Given the description of an element on the screen output the (x, y) to click on. 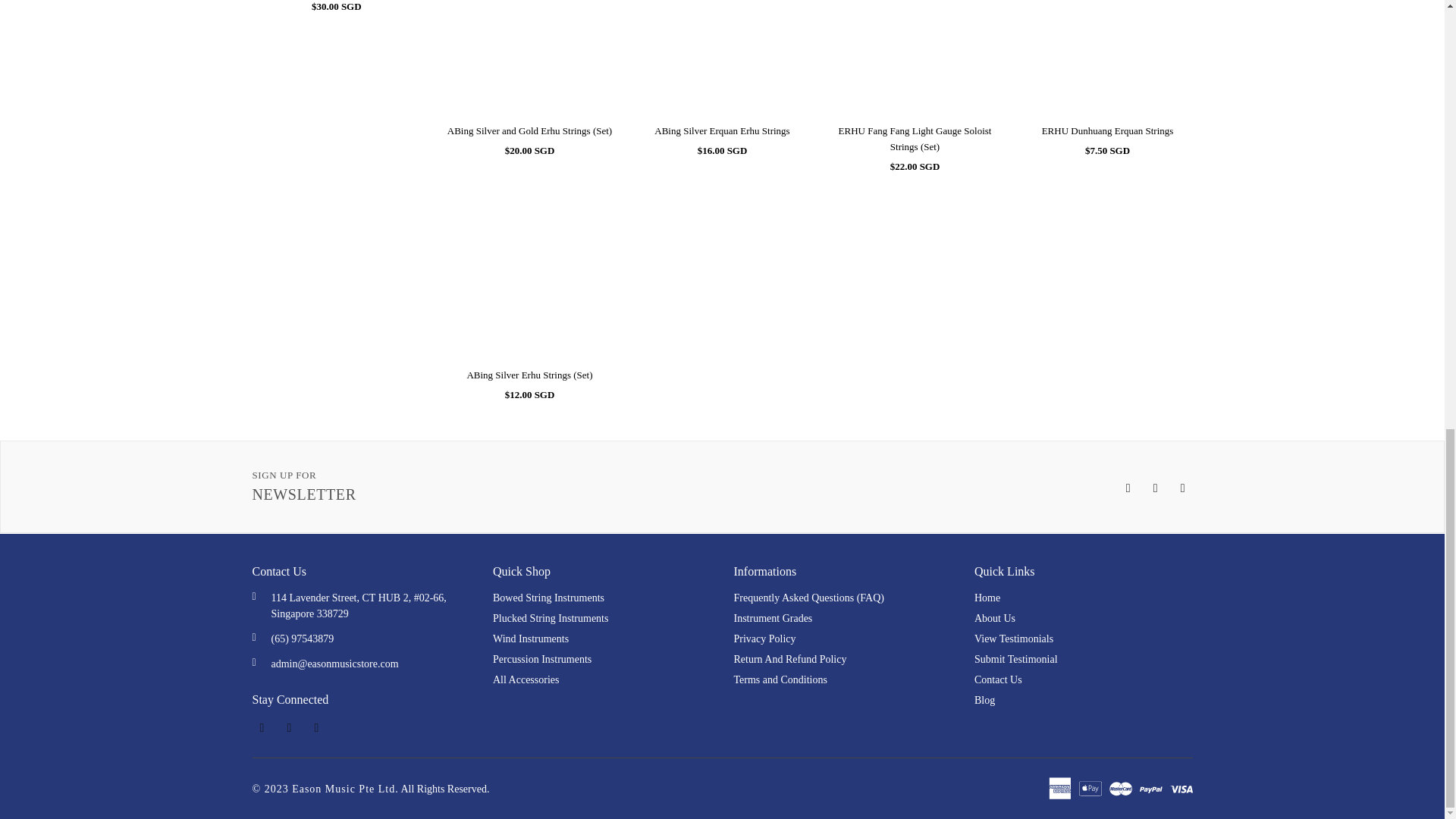
Eason Music Store on Facebook (1123, 487)
